Given the description of an element on the screen output the (x, y) to click on. 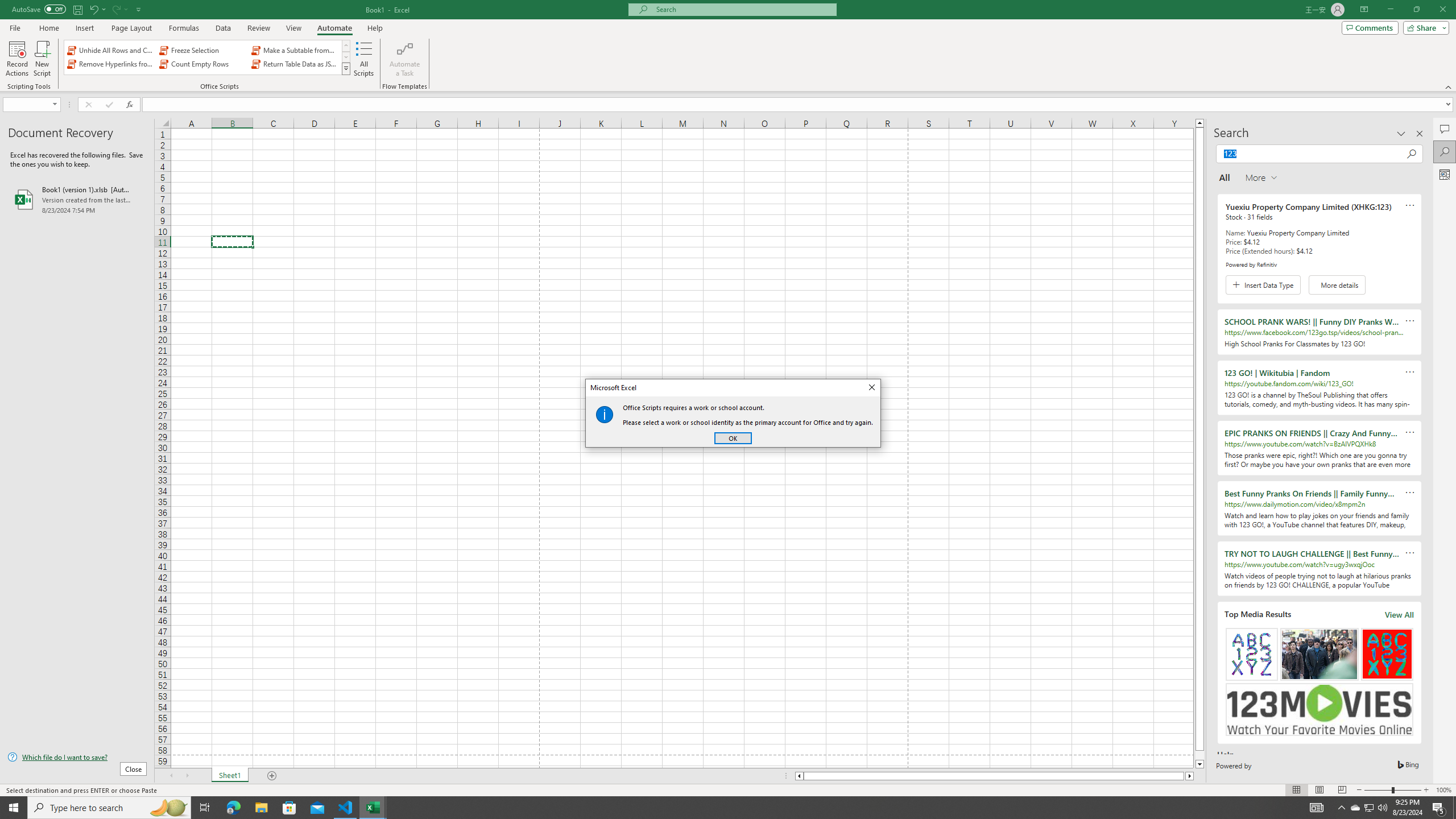
Record Actions (17, 58)
Show desktop (1454, 807)
OK (732, 437)
Microsoft Edge (233, 807)
Make a Subtable from a Selection (294, 50)
